Given the description of an element on the screen output the (x, y) to click on. 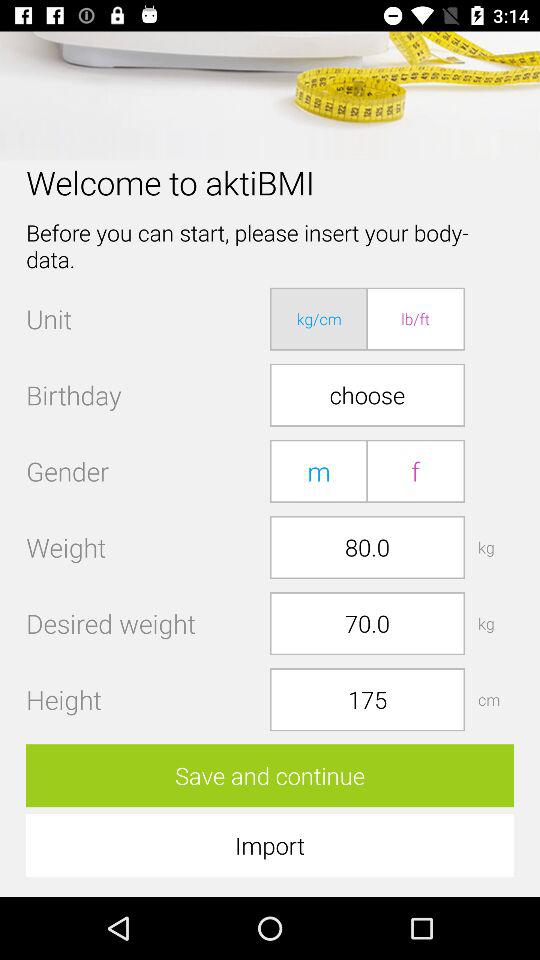
press item below the choose item (319, 470)
